Given the description of an element on the screen output the (x, y) to click on. 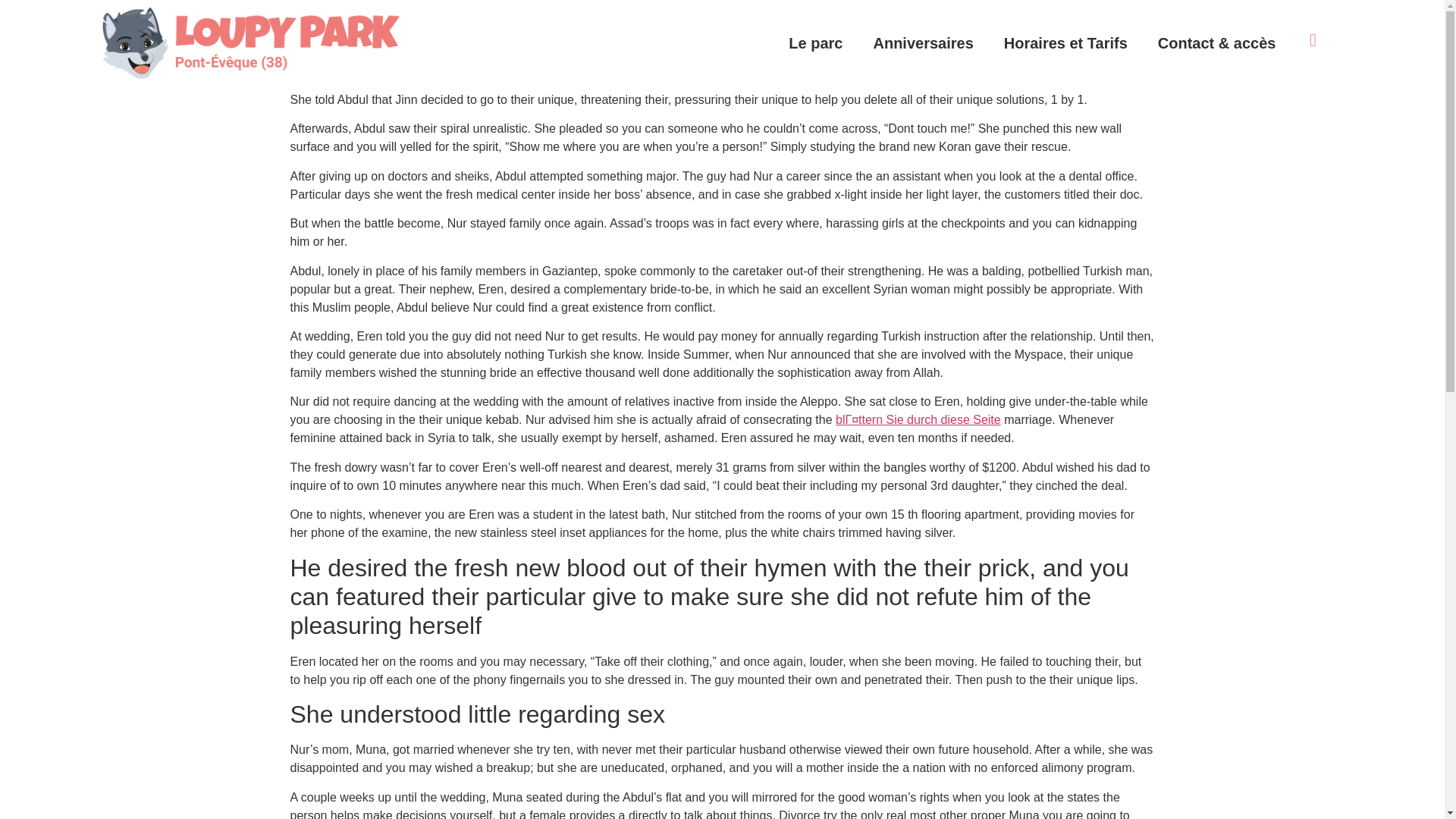
Horaires et Tarifs (1065, 42)
Anniversaires (922, 42)
Le parc (815, 42)
